Given the description of an element on the screen output the (x, y) to click on. 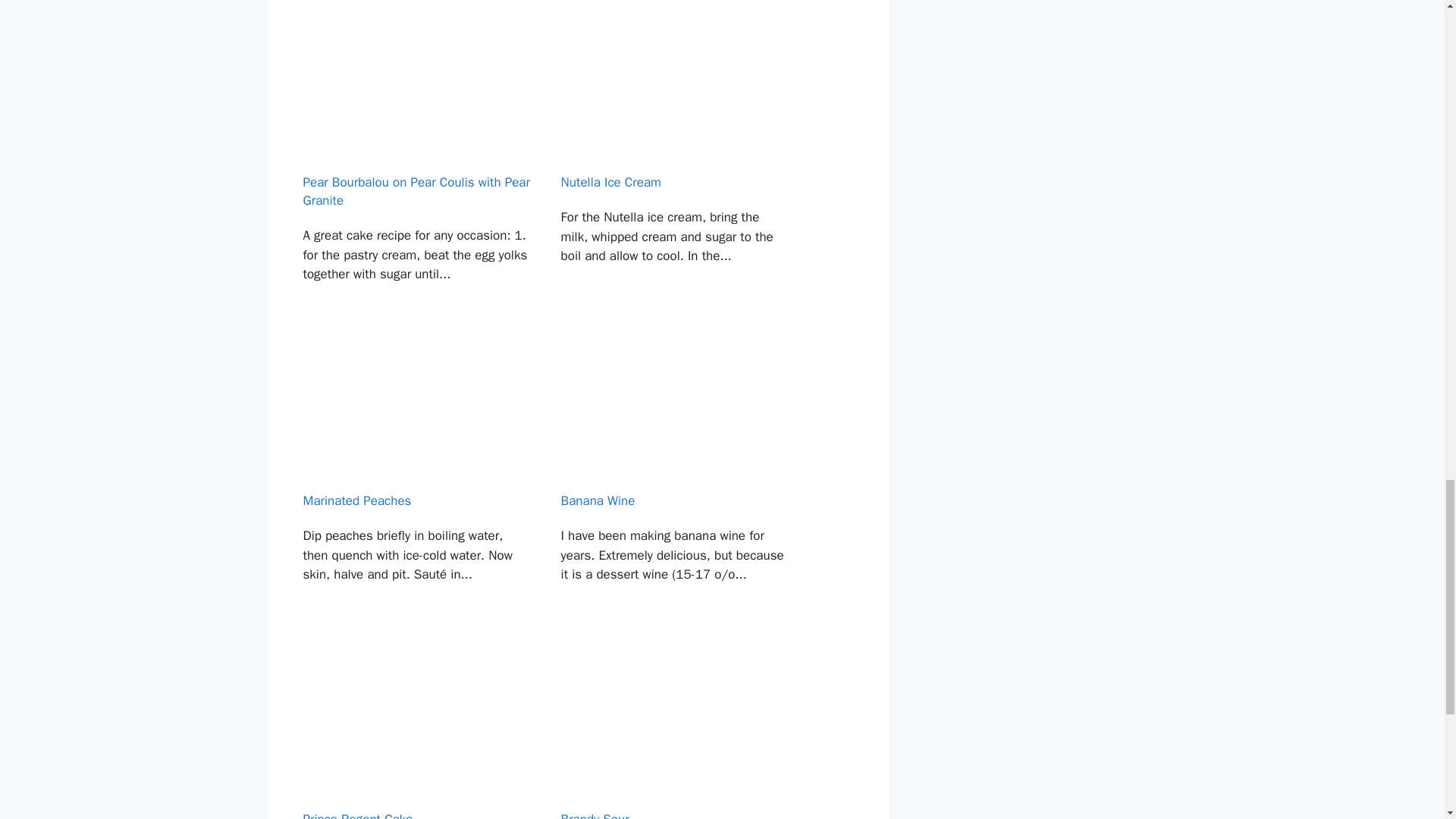
Marinated Peaches (414, 480)
Nutella Ice Cream (673, 161)
Brandy Sour (673, 731)
Pear Bourbalou on Pear Coulis with Pear Granite (414, 161)
Banana Wine (673, 480)
Prince Regent Cake (414, 731)
